Given the description of an element on the screen output the (x, y) to click on. 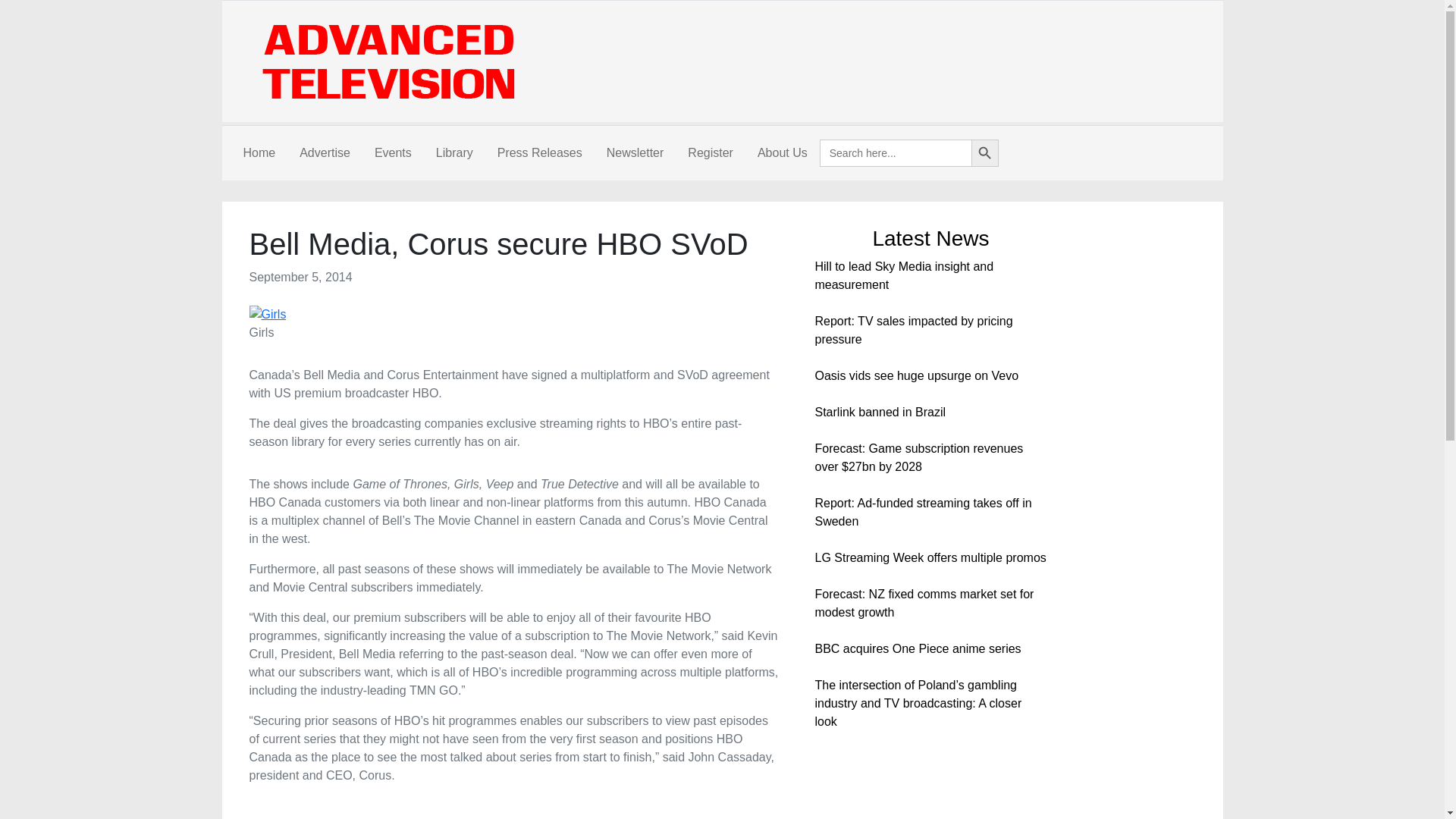
Report: TV sales impacted by pricing pressure (912, 329)
Hill to lead Sky Media insight and measurement (902, 275)
Newsletter (635, 153)
Register (710, 153)
Forecast: NZ fixed comms market set for modest growth (923, 603)
Events (392, 153)
About Us (782, 153)
Press Releases (539, 153)
Starlink banned in Brazil (878, 411)
BBC acquires One Piece anime series (916, 648)
